Given the description of an element on the screen output the (x, y) to click on. 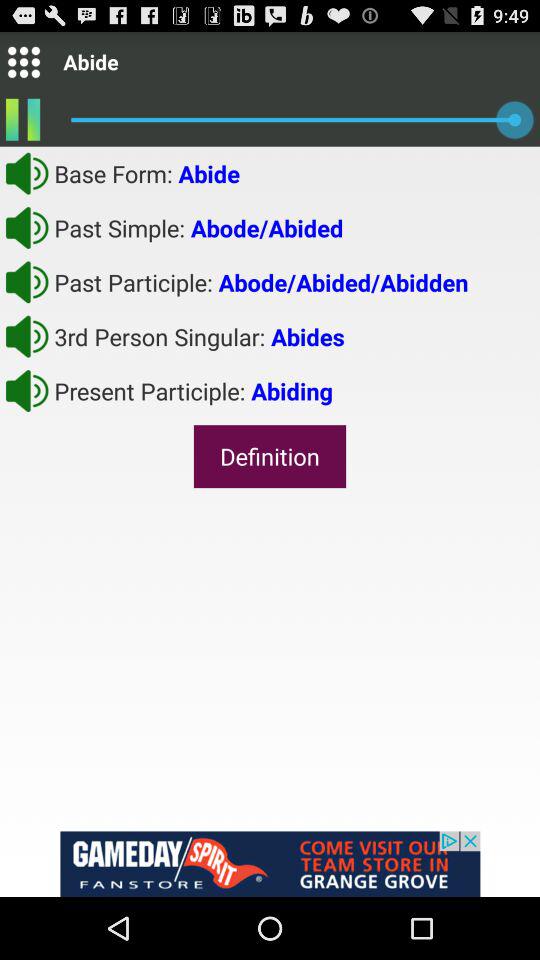
play sound option (27, 336)
